Given the description of an element on the screen output the (x, y) to click on. 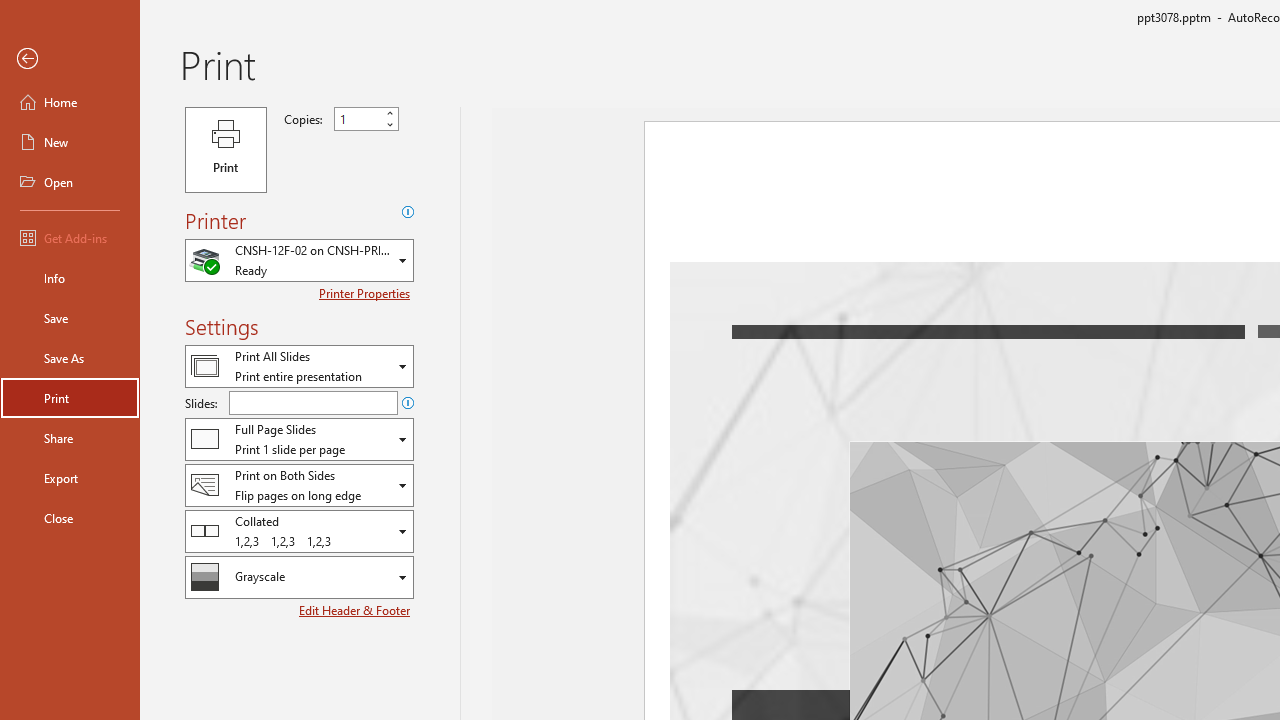
Info (69, 277)
Color/Grayscale (299, 577)
Edit Header & Footer (356, 610)
Printer Properties (365, 293)
Print (226, 149)
Two-Sided Printing (299, 484)
Copies (358, 119)
Get Add-ins (69, 237)
Save As (69, 357)
Print (69, 398)
Copies (366, 119)
Slides and Handouts (299, 439)
